Given the description of an element on the screen output the (x, y) to click on. 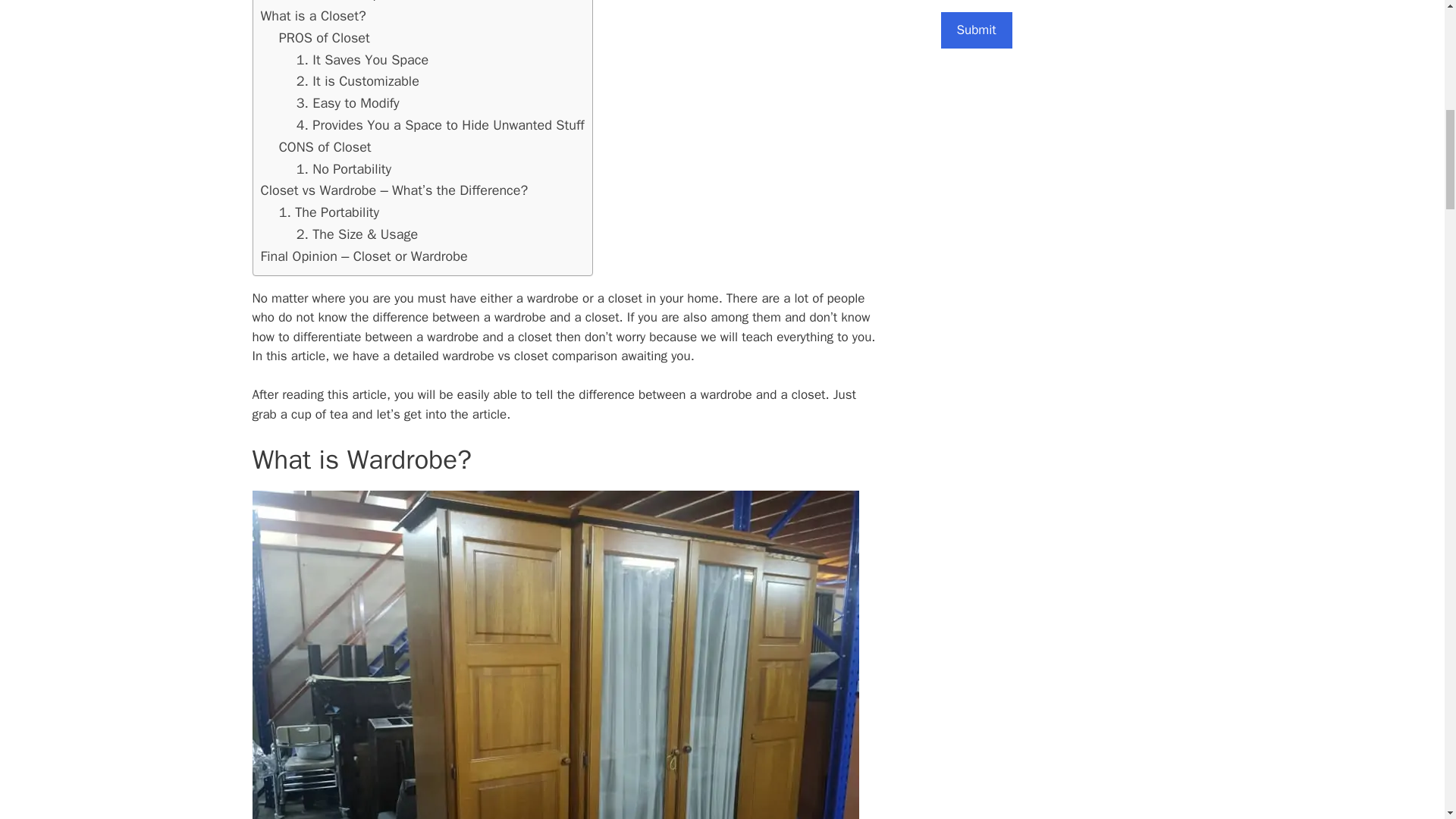
3. Easy to Modify (347, 103)
1. It Saves You Space (362, 59)
1. No Portability (344, 168)
1. It Takes Space (349, 1)
1. It Takes Space (349, 1)
PROS of Closet (324, 37)
What is a Closet? (313, 15)
1. The Portability (328, 211)
1. It Saves You Space (362, 59)
3. Easy to Modify (347, 103)
